Given the description of an element on the screen output the (x, y) to click on. 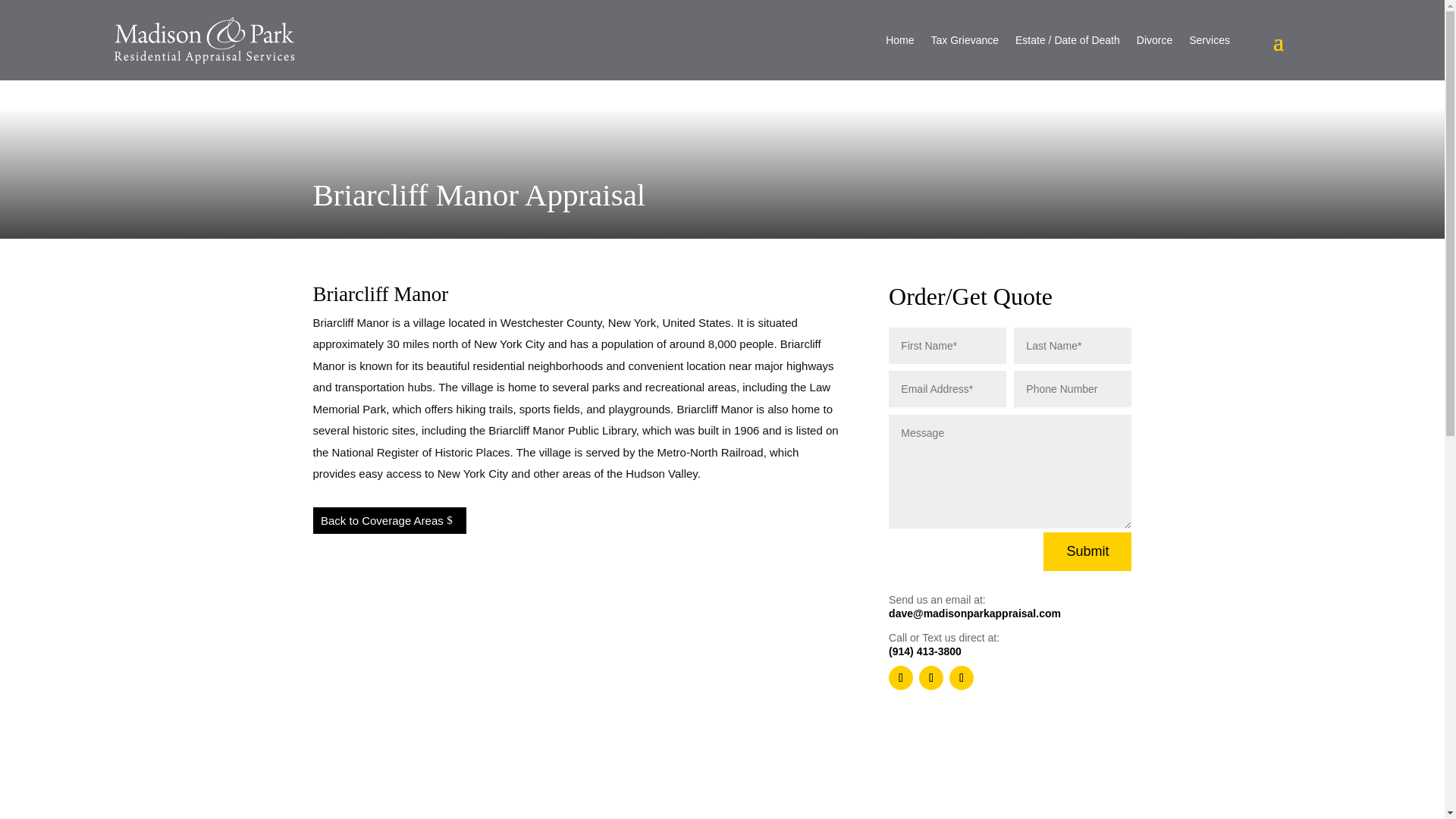
Follow on LinkedIn (961, 677)
Follow on Facebook (900, 677)
Follow on X (930, 677)
Tax Grievance (964, 39)
Submit (1087, 551)
Back to Coverage Areas (389, 519)
